Given the description of an element on the screen output the (x, y) to click on. 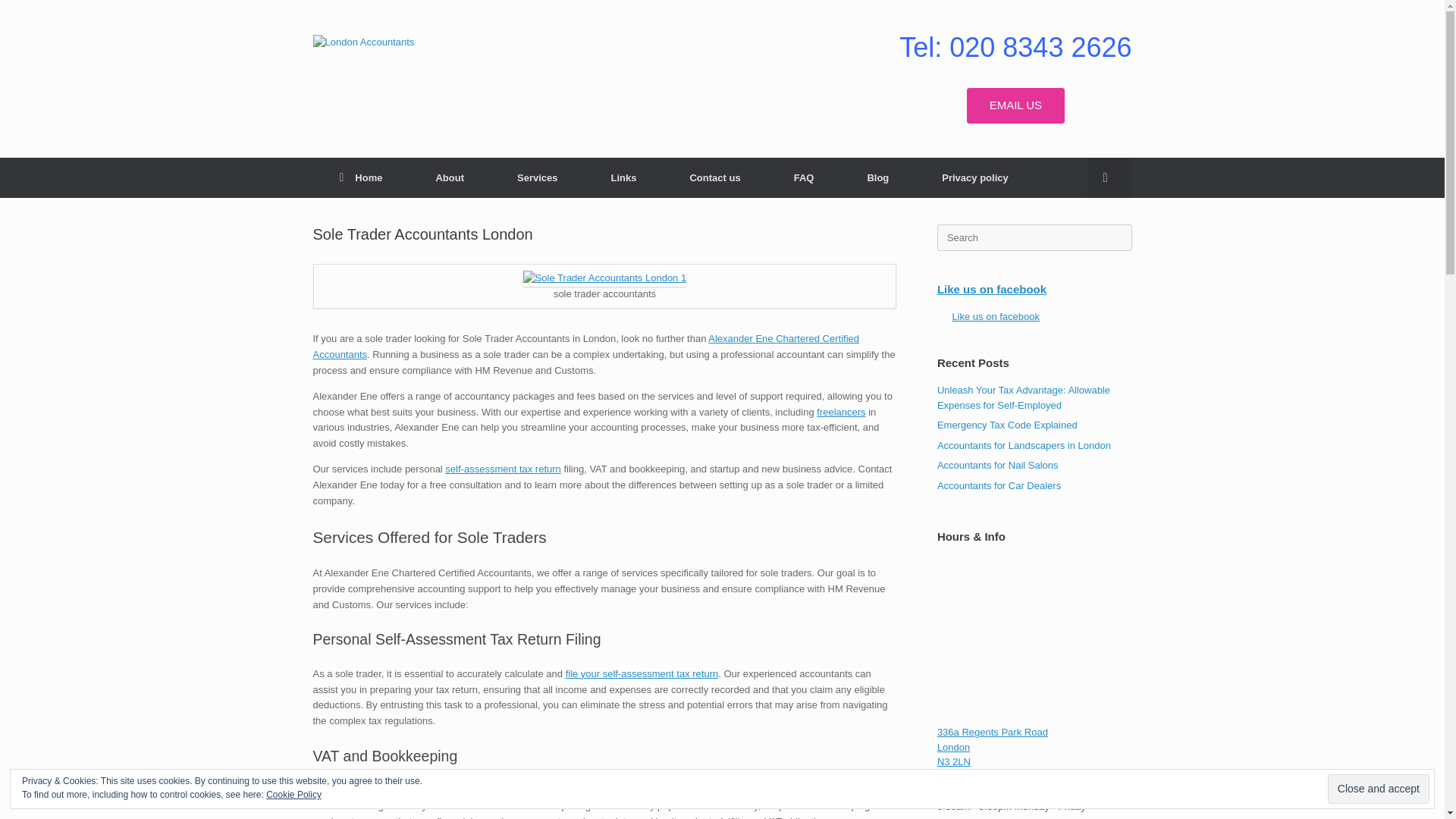
Alexander Ene (363, 41)
Alexander Ene Chartered Certified Accountants (586, 346)
Home (361, 178)
file your self-assessment tax return (642, 673)
FAQ (804, 178)
About (449, 178)
EMAIL US (1015, 105)
Close and accept (1378, 788)
self-assessment tax return (502, 469)
Contact us (714, 178)
Services (537, 178)
Links (624, 178)
Blog (877, 178)
Privacy policy (974, 178)
Google Maps Embed (1034, 639)
